Given the description of an element on the screen output the (x, y) to click on. 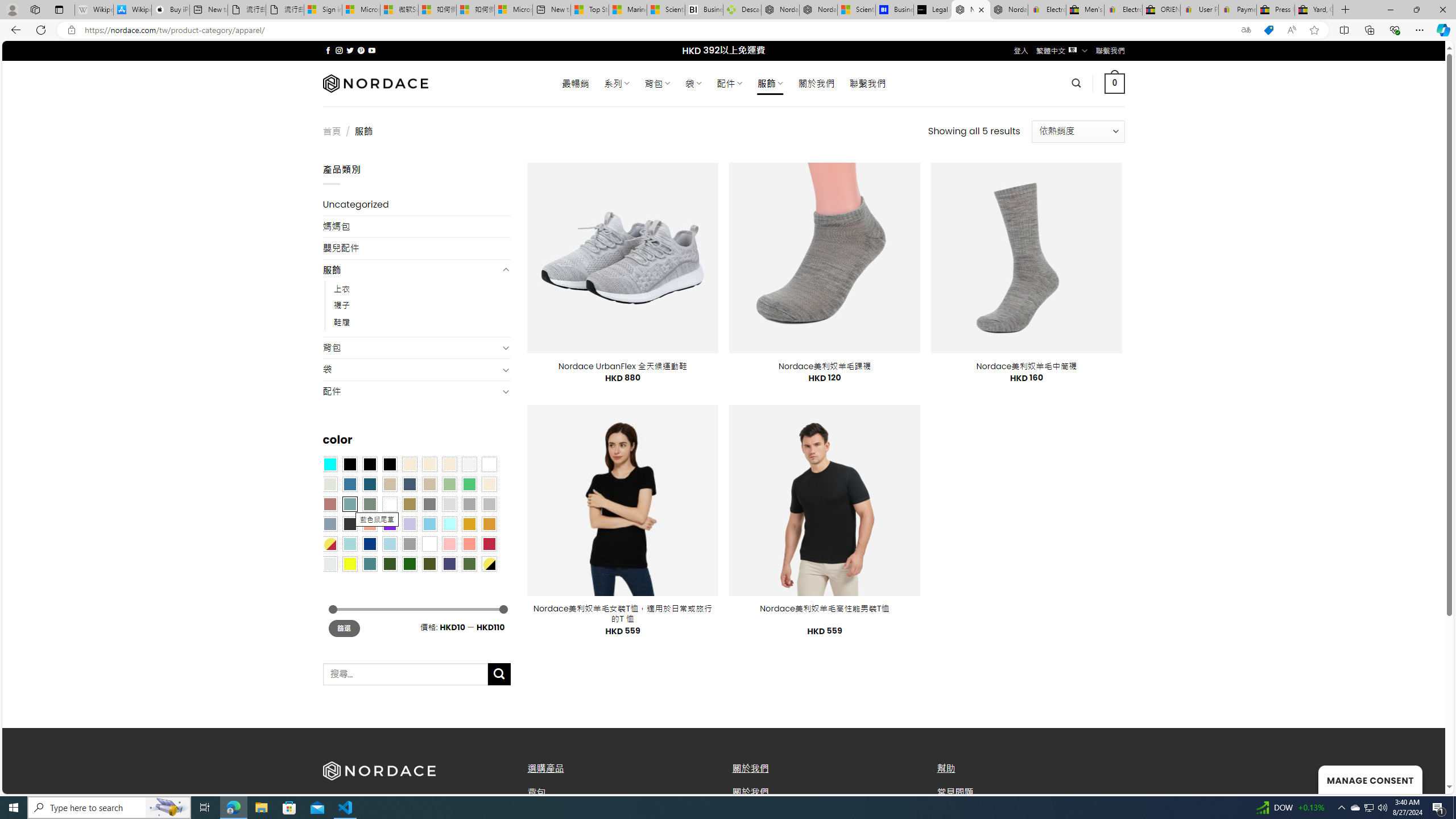
Personal Profile (12, 9)
Workspaces (34, 9)
Buy iPad - Apple (171, 9)
Yard, Garden & Outdoor Living (1314, 9)
